Given the description of an element on the screen output the (x, y) to click on. 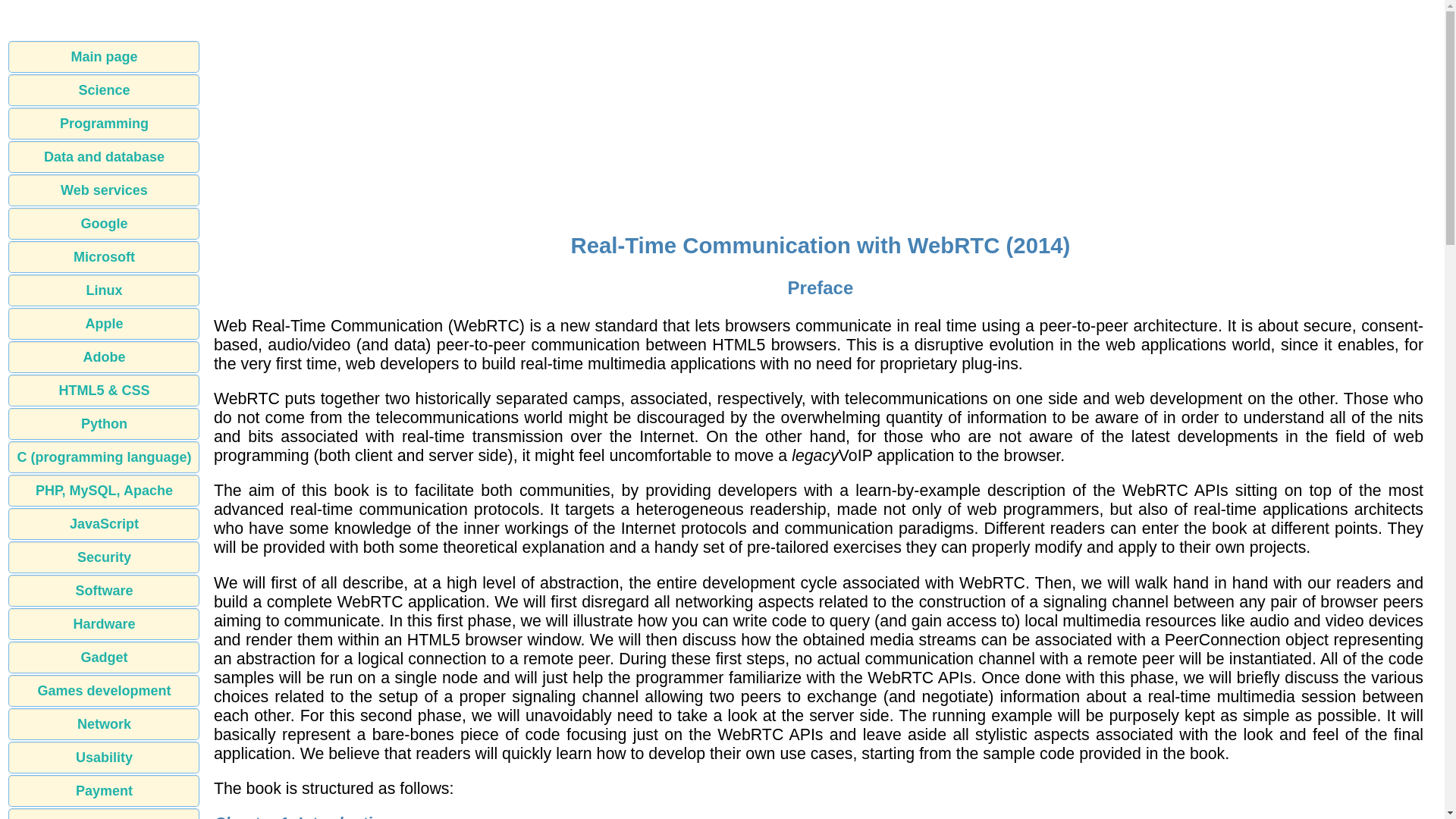
Games development (103, 690)
Google (103, 223)
PHP, MySQL, Apache (103, 490)
Hardware (103, 623)
Network (103, 724)
Main page (103, 56)
Data and database (103, 156)
Payment (103, 790)
Science (103, 90)
Gadget (103, 657)
